Given the description of an element on the screen output the (x, y) to click on. 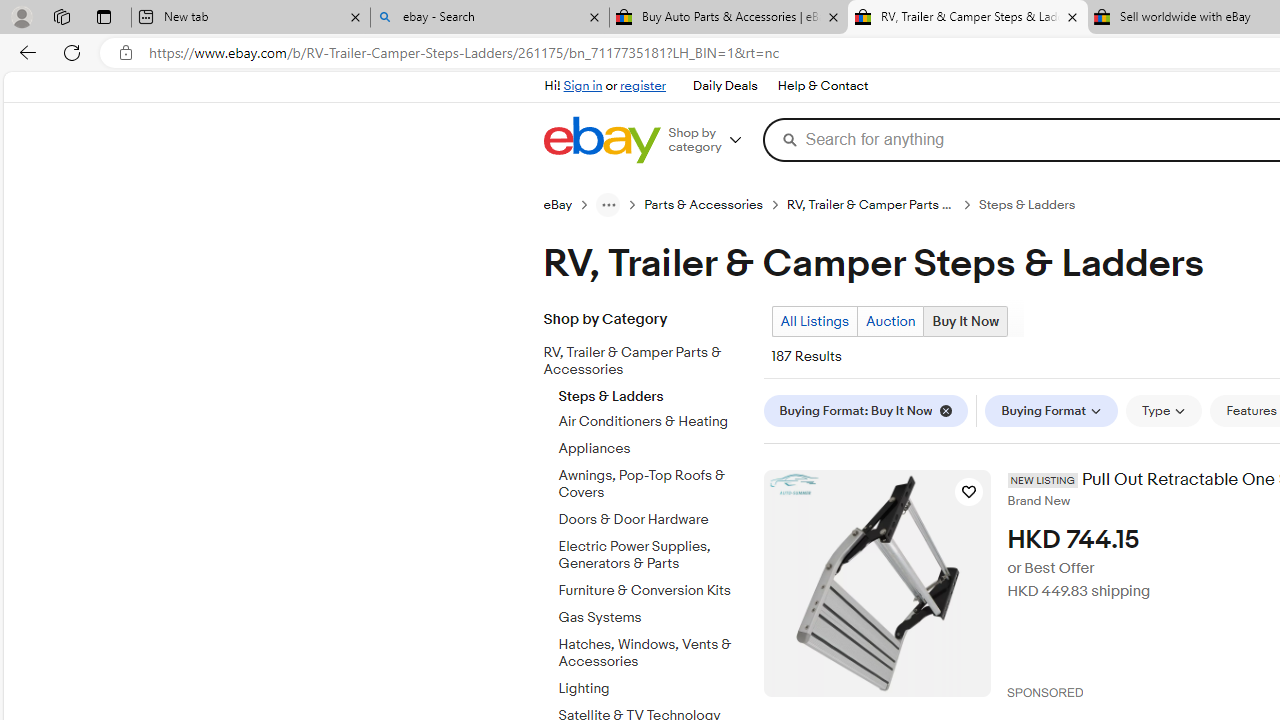
Lighting (653, 685)
Buy It Now (965, 321)
Doors & Door Hardware (653, 516)
All Listings (814, 321)
RV, Trailer & Camper Parts & Accessories (637, 362)
Hatches, Windows, Vents & Accessories (653, 649)
eBay (557, 205)
Lighting (653, 689)
Daily Deals (724, 86)
Steps & Ladders (653, 392)
Auction (890, 321)
Doors & Door Hardware (653, 520)
